Given the description of an element on the screen output the (x, y) to click on. 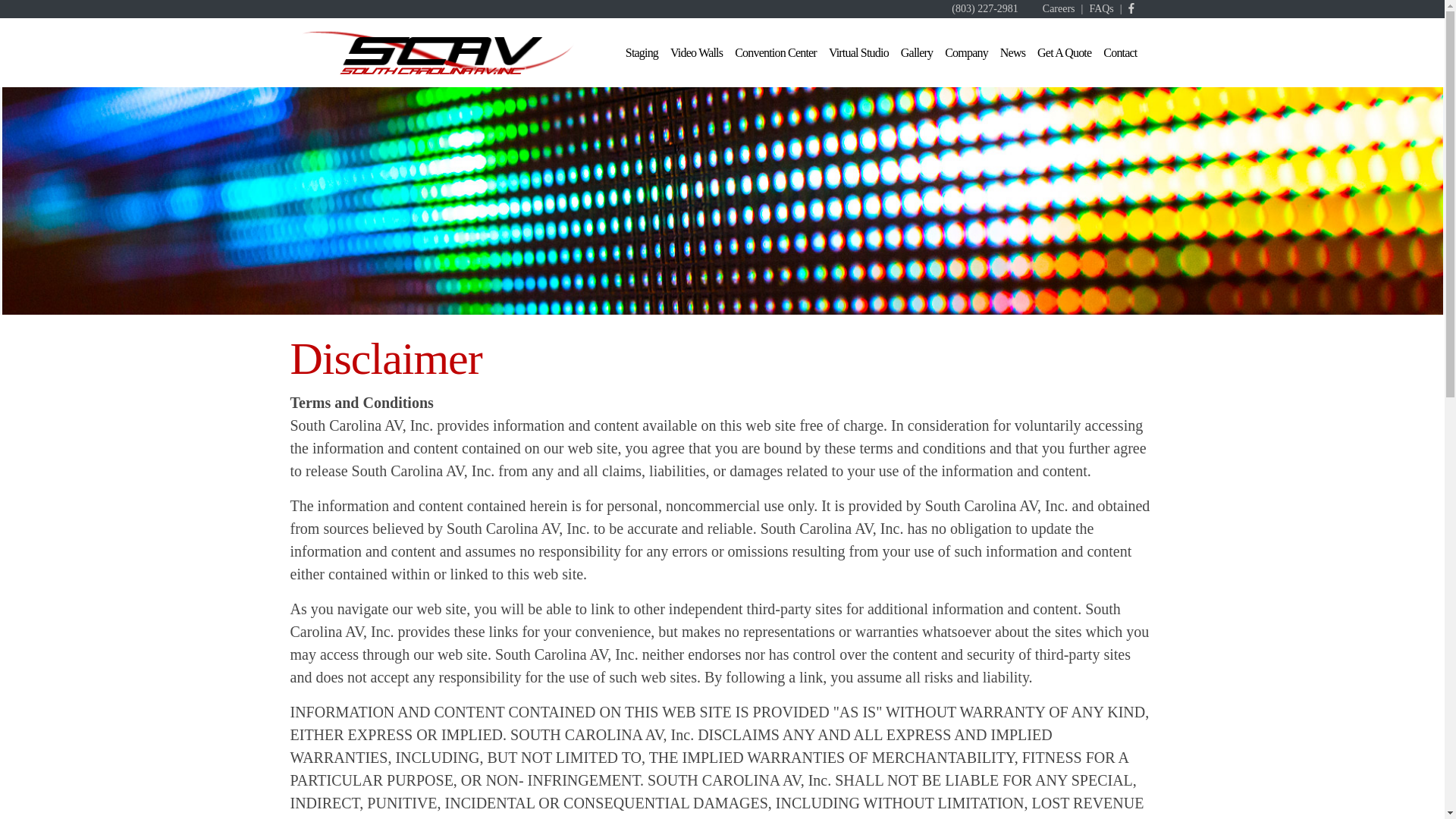
Careers (1058, 8)
Gallery (917, 53)
Virtual Studio (858, 53)
Staging (641, 53)
Convention Center (775, 53)
Video Walls (696, 53)
News (1012, 53)
Get A Quote (1063, 53)
Contact (1119, 53)
FAQs (1101, 8)
Company (966, 53)
